Given the description of an element on the screen output the (x, y) to click on. 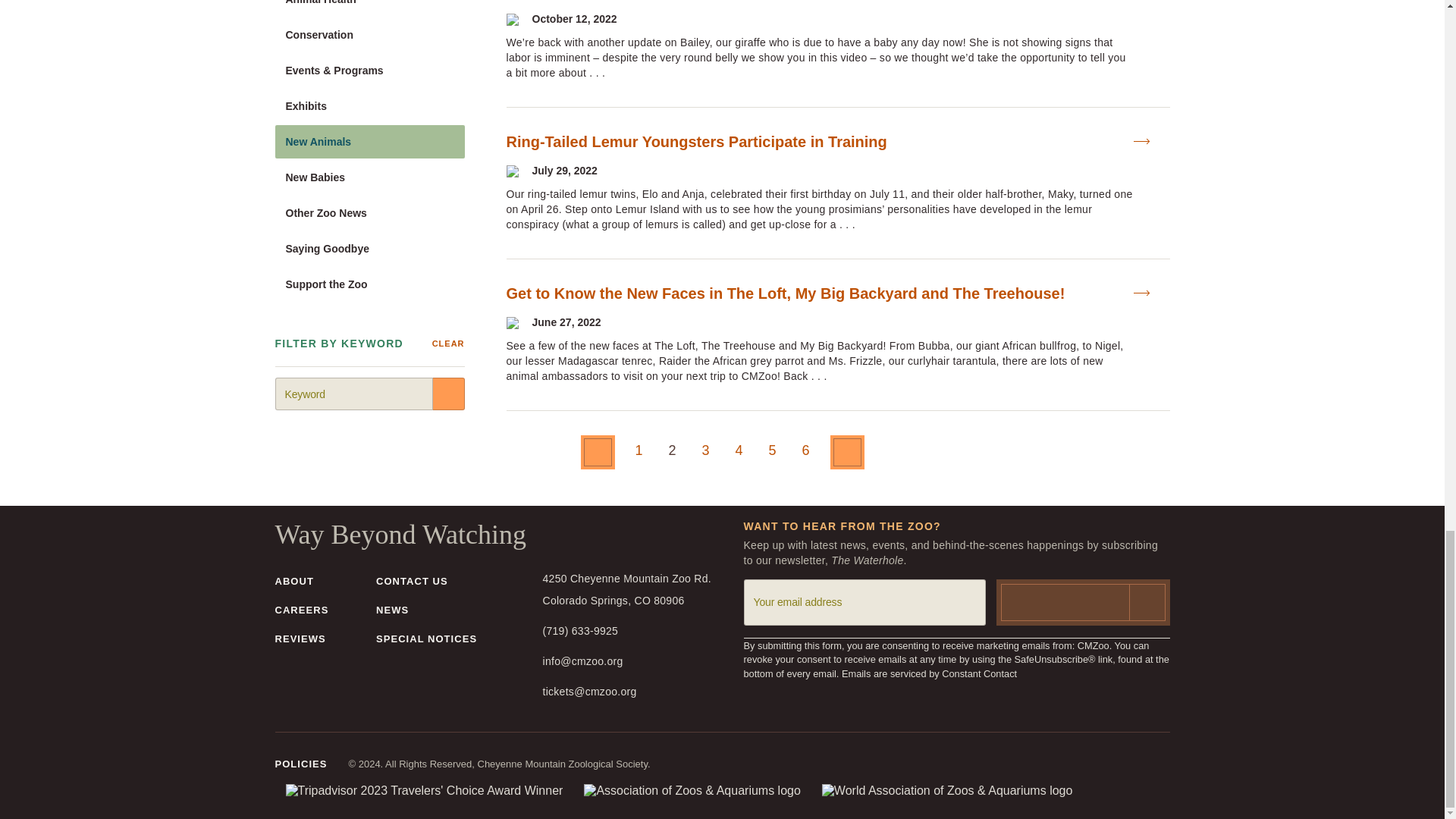
Subscribe (1082, 602)
